Given the description of an element on the screen output the (x, y) to click on. 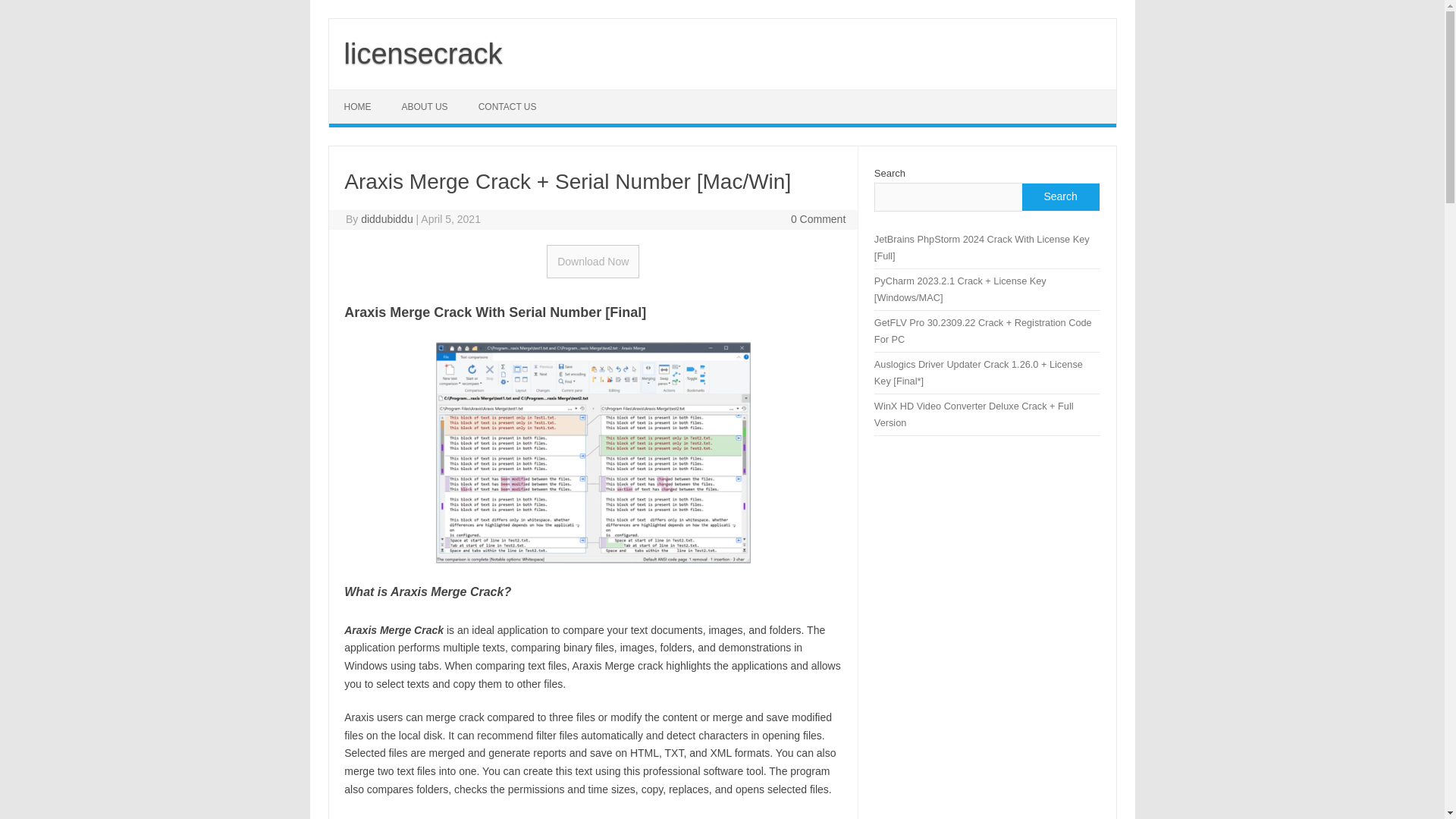
Search (1059, 196)
ABOUT US (425, 106)
HOME (358, 106)
Download Now (593, 261)
licensecrack (422, 53)
Download Now (593, 261)
Posts by diddubiddu (387, 218)
diddubiddu (387, 218)
licensecrack (422, 53)
CONTACT US (507, 106)
0 Comment (817, 218)
